Given the description of an element on the screen output the (x, y) to click on. 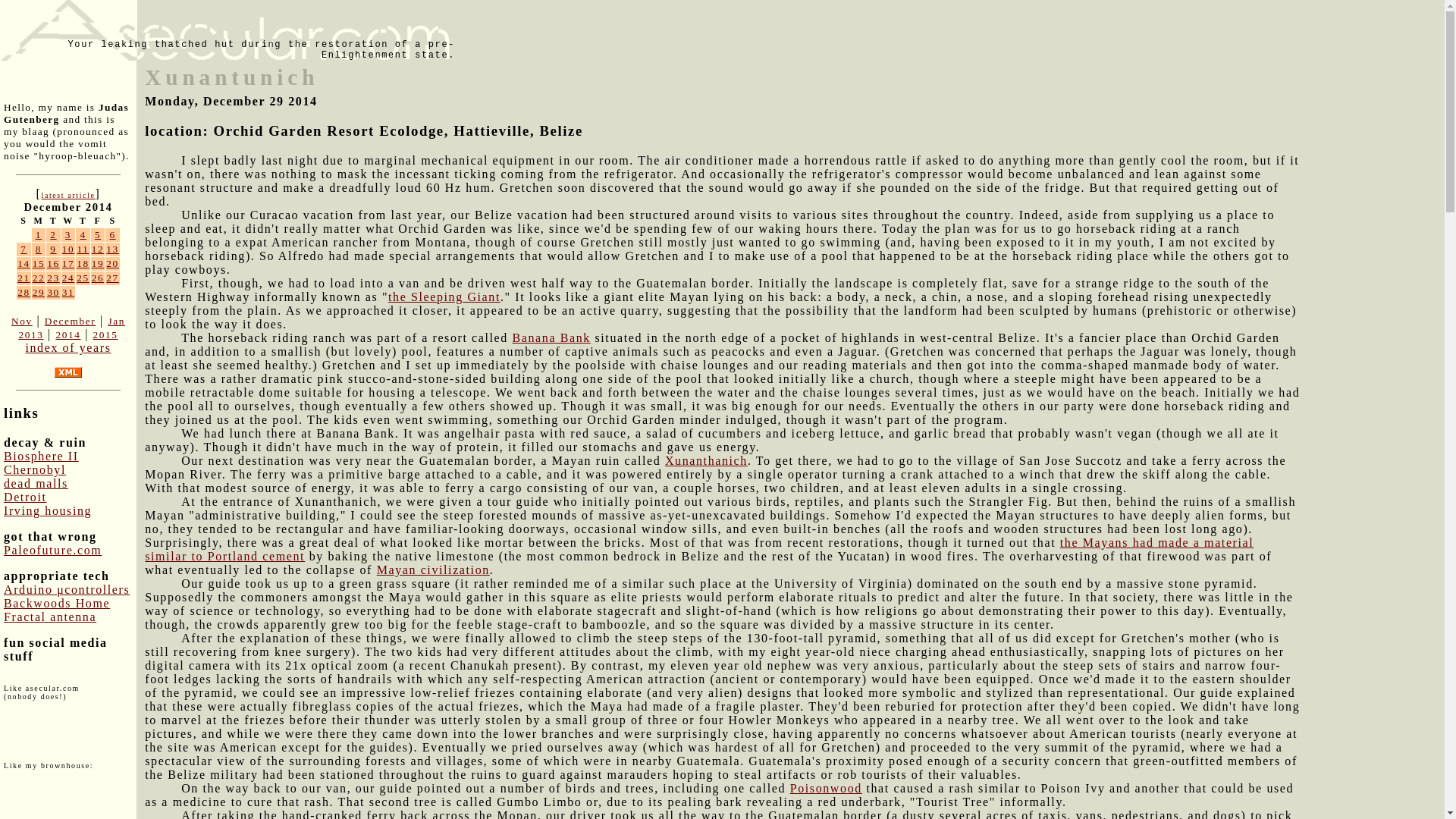
25 (82, 277)
26 (97, 277)
Nov (21, 320)
December (70, 320)
23 (52, 277)
latest article (67, 194)
14 (23, 263)
13 (112, 248)
2014 (67, 334)
17 (68, 263)
2015 (105, 334)
Jan (116, 320)
10 (68, 248)
21 (23, 277)
15 (38, 263)
